Given the description of an element on the screen output the (x, y) to click on. 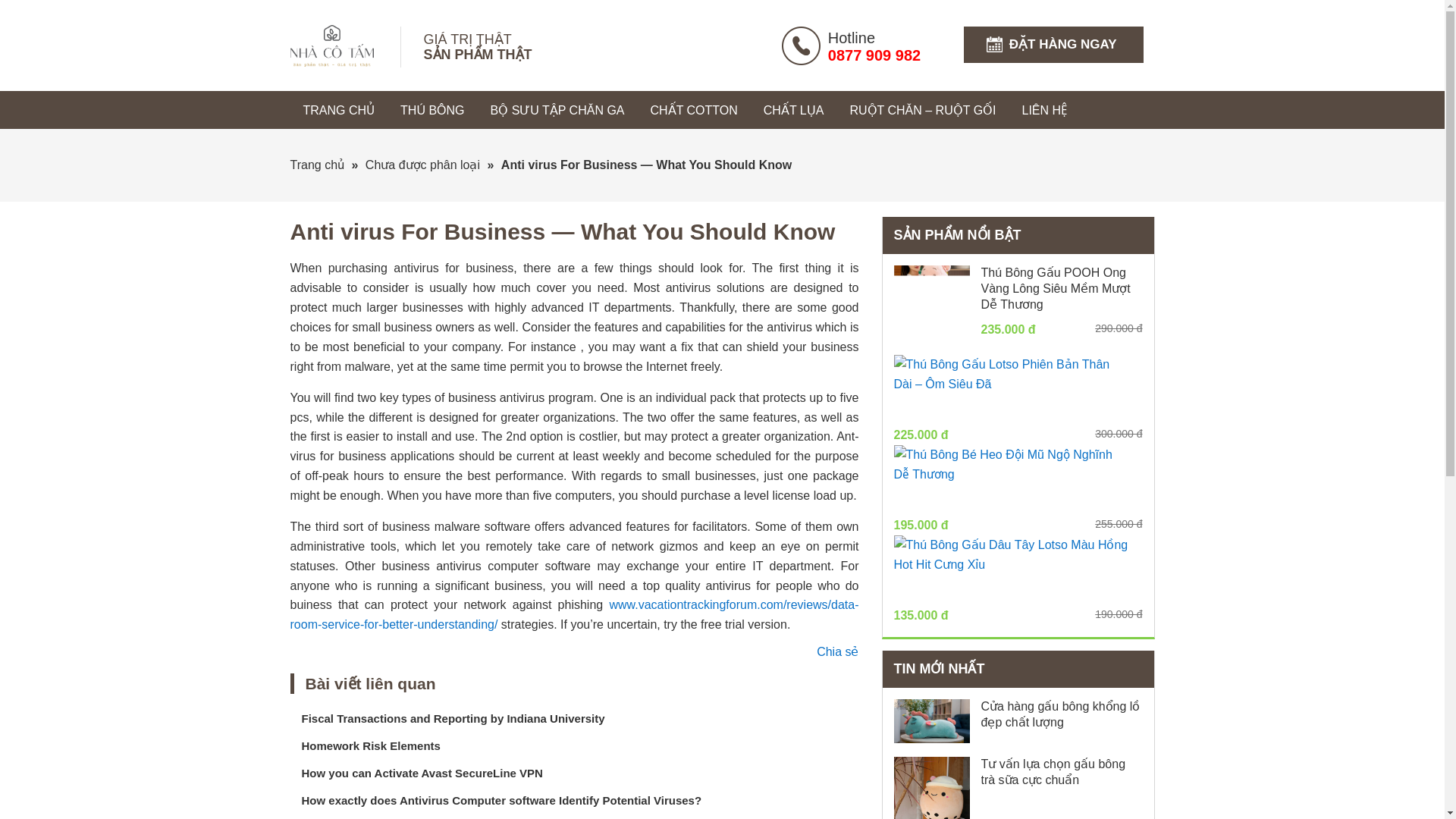
Fiscal Transactions and Reporting by Indiana University (453, 717)
How you can Activate Avast SecureLine VPN (422, 772)
Hotline (851, 37)
Homework Risk Elements (371, 745)
0877 909 982 (874, 55)
How you can Activate Avast SecureLine VPN (422, 772)
Fiscal Transactions and Reporting by Indiana University (453, 717)
Homework Risk Elements (371, 745)
